Given the description of an element on the screen output the (x, y) to click on. 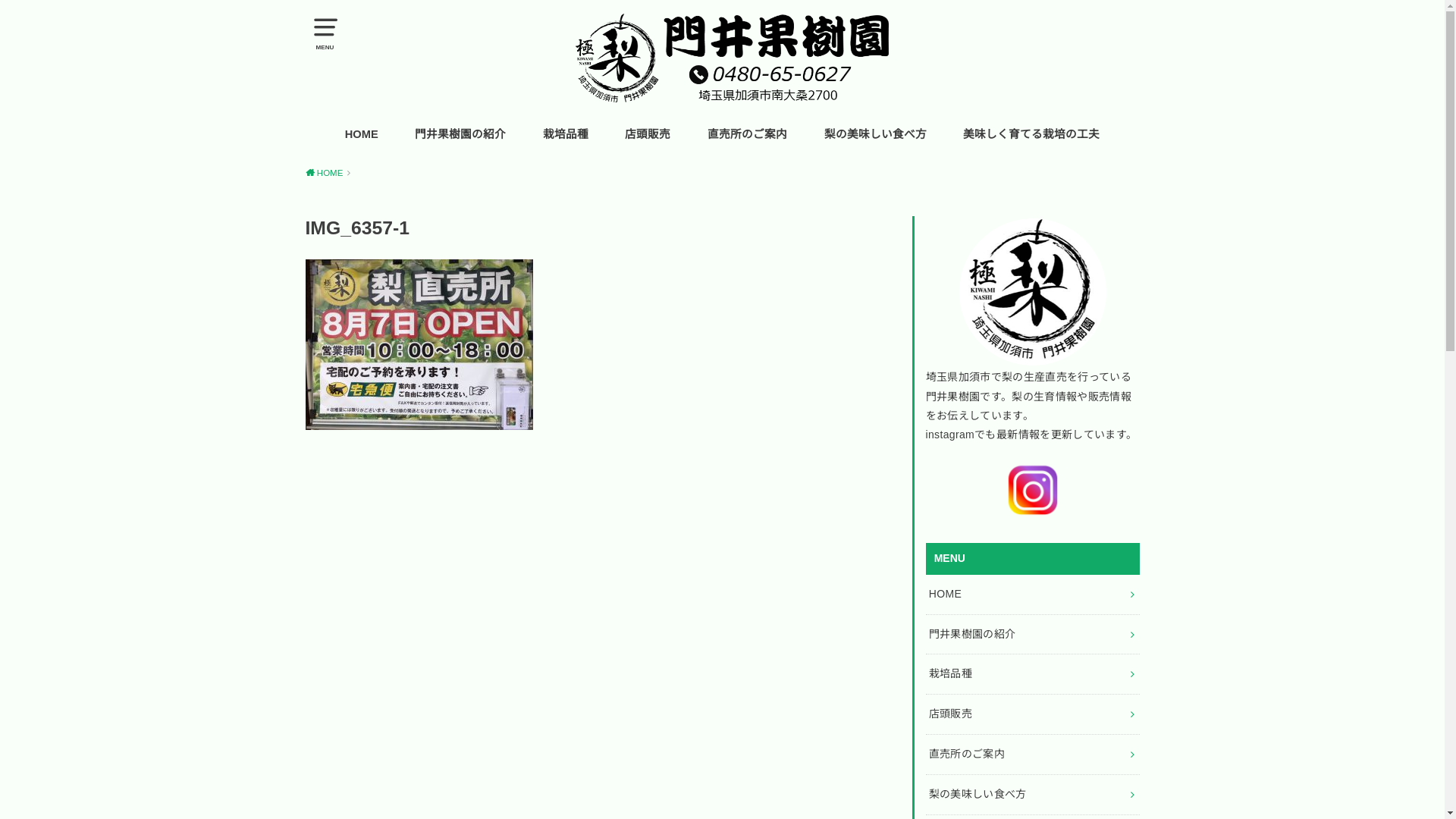
MENU Element type: text (324, 29)
HOME Element type: text (327, 172)
HOME Element type: text (1032, 594)
HOME Element type: text (361, 134)
